Given the description of an element on the screen output the (x, y) to click on. 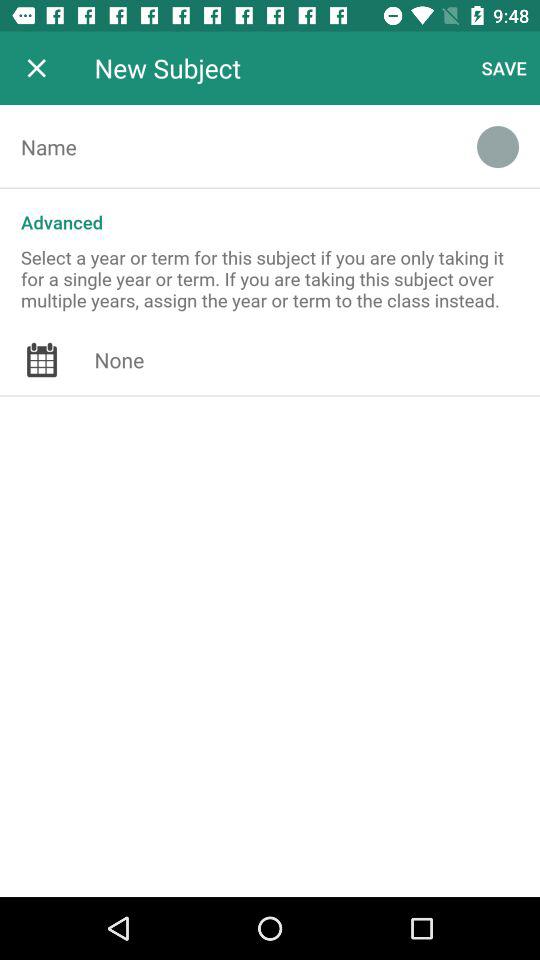
none option lable (317, 359)
